Given the description of an element on the screen output the (x, y) to click on. 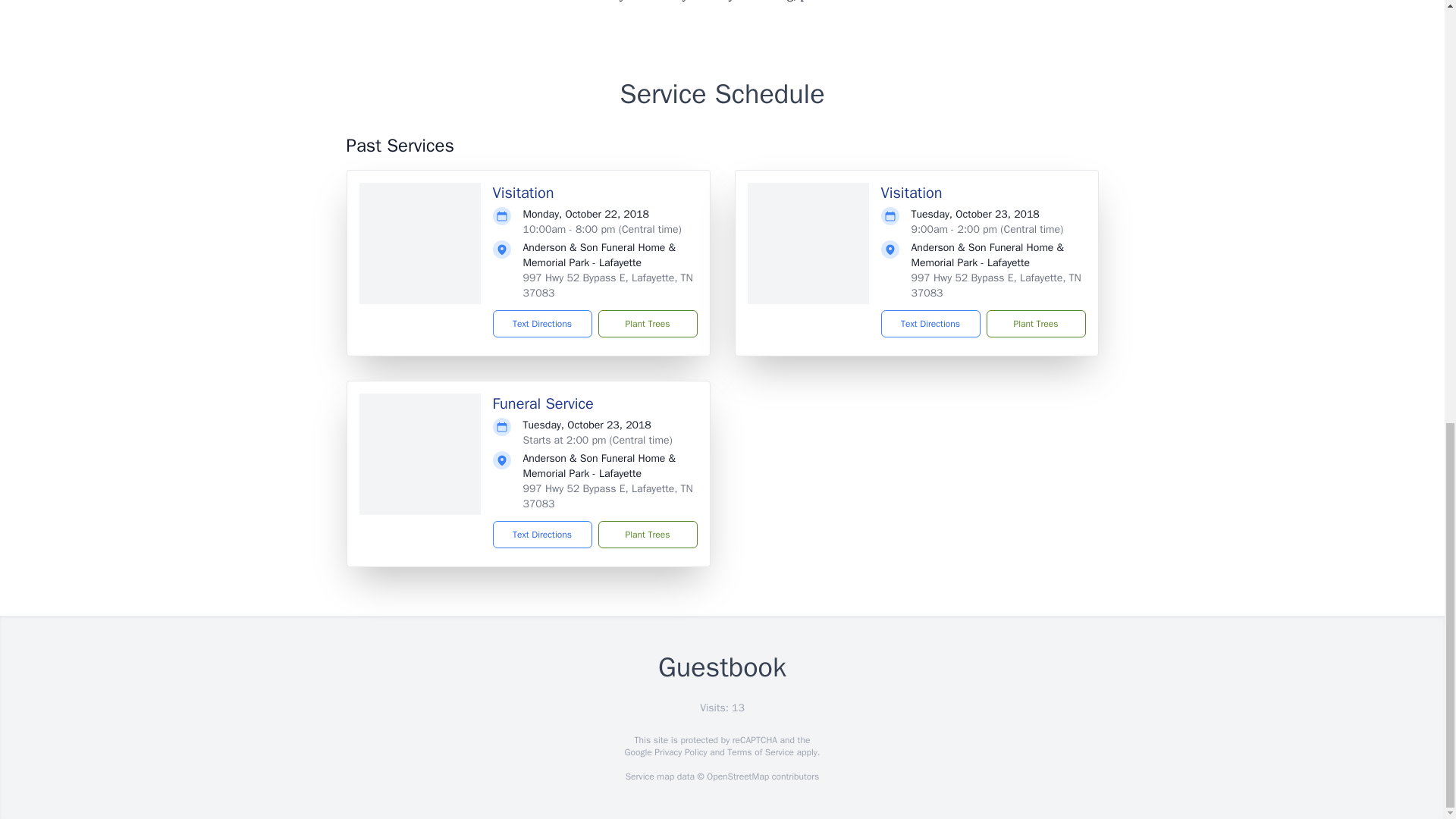
997 Hwy 52 Bypass E, Lafayette, TN 37083 (607, 285)
997 Hwy 52 Bypass E, Lafayette, TN 37083 (996, 285)
Text Directions (542, 533)
Terms of Service (759, 752)
OpenStreetMap (737, 776)
Plant Trees (646, 323)
Plant Trees (1034, 323)
memorial trees (424, 0)
997 Hwy 52 Bypass E, Lafayette, TN 37083 (607, 496)
Plant Trees (646, 533)
